Given the description of an element on the screen output the (x, y) to click on. 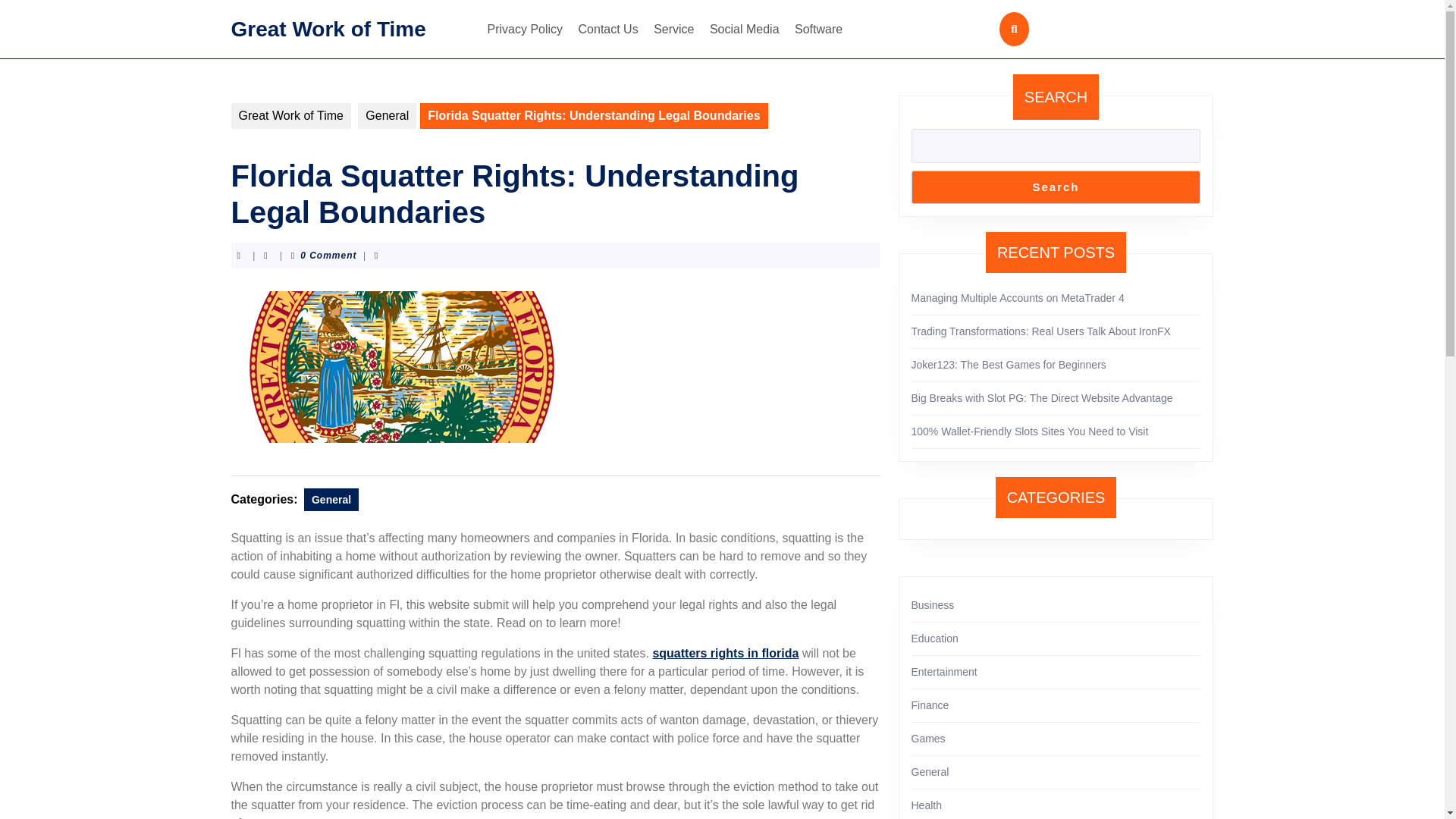
Great Work of Time (290, 115)
Business (933, 604)
Privacy Policy (524, 28)
Education (934, 638)
Managing Multiple Accounts on MetaTrader 4 (1017, 297)
Search (1056, 186)
Social Media (744, 28)
Big Breaks with Slot PG: The Direct Website Advantage (1042, 398)
Service (673, 28)
Joker123: The Best Games for Beginners (1008, 364)
